Given the description of an element on the screen output the (x, y) to click on. 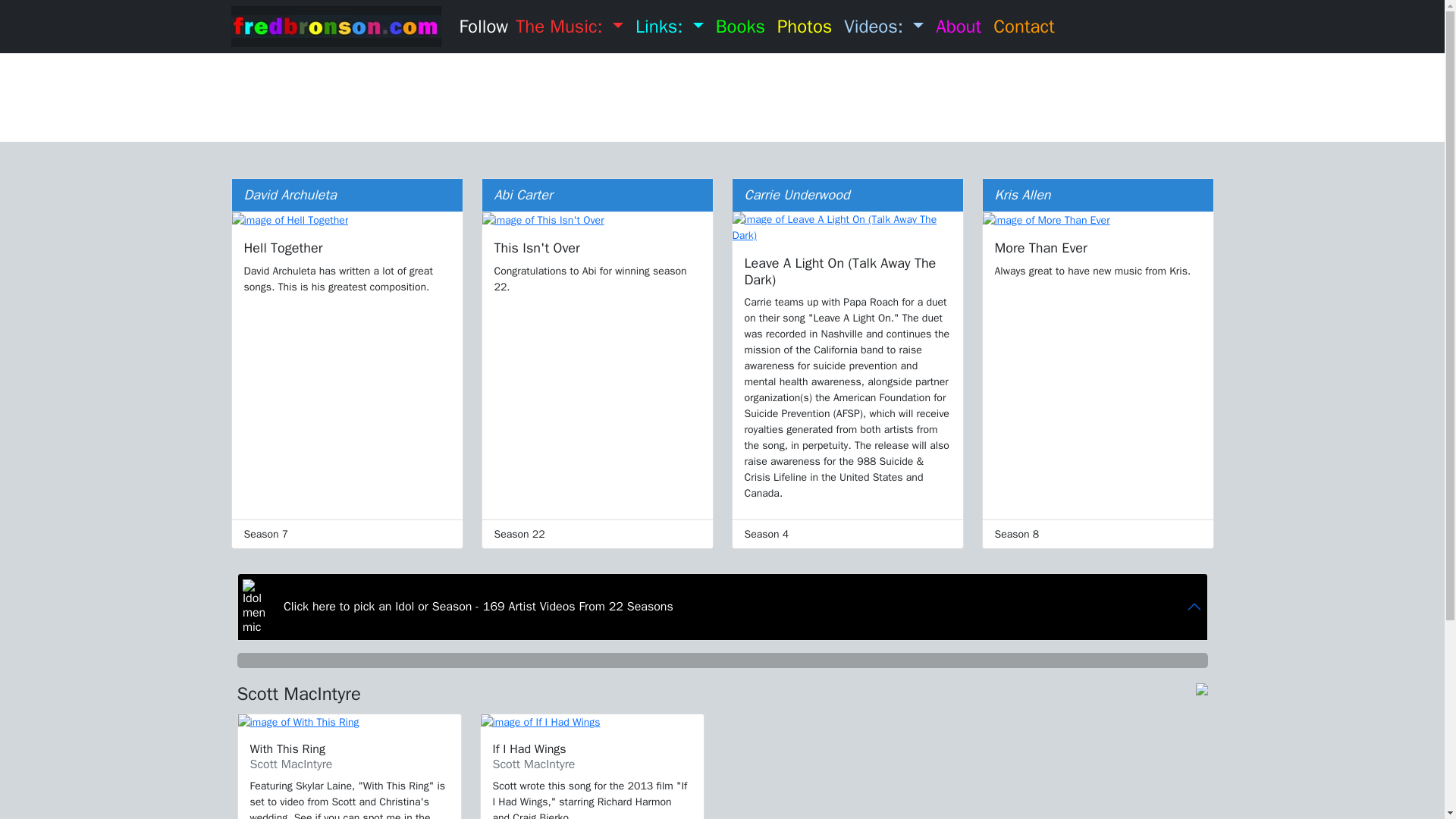
The Music: (568, 25)
Photos (804, 25)
Links: (669, 25)
Follow (483, 25)
Videos: (884, 25)
About (958, 25)
Books (740, 25)
Contact (1024, 25)
